Given the description of an element on the screen output the (x, y) to click on. 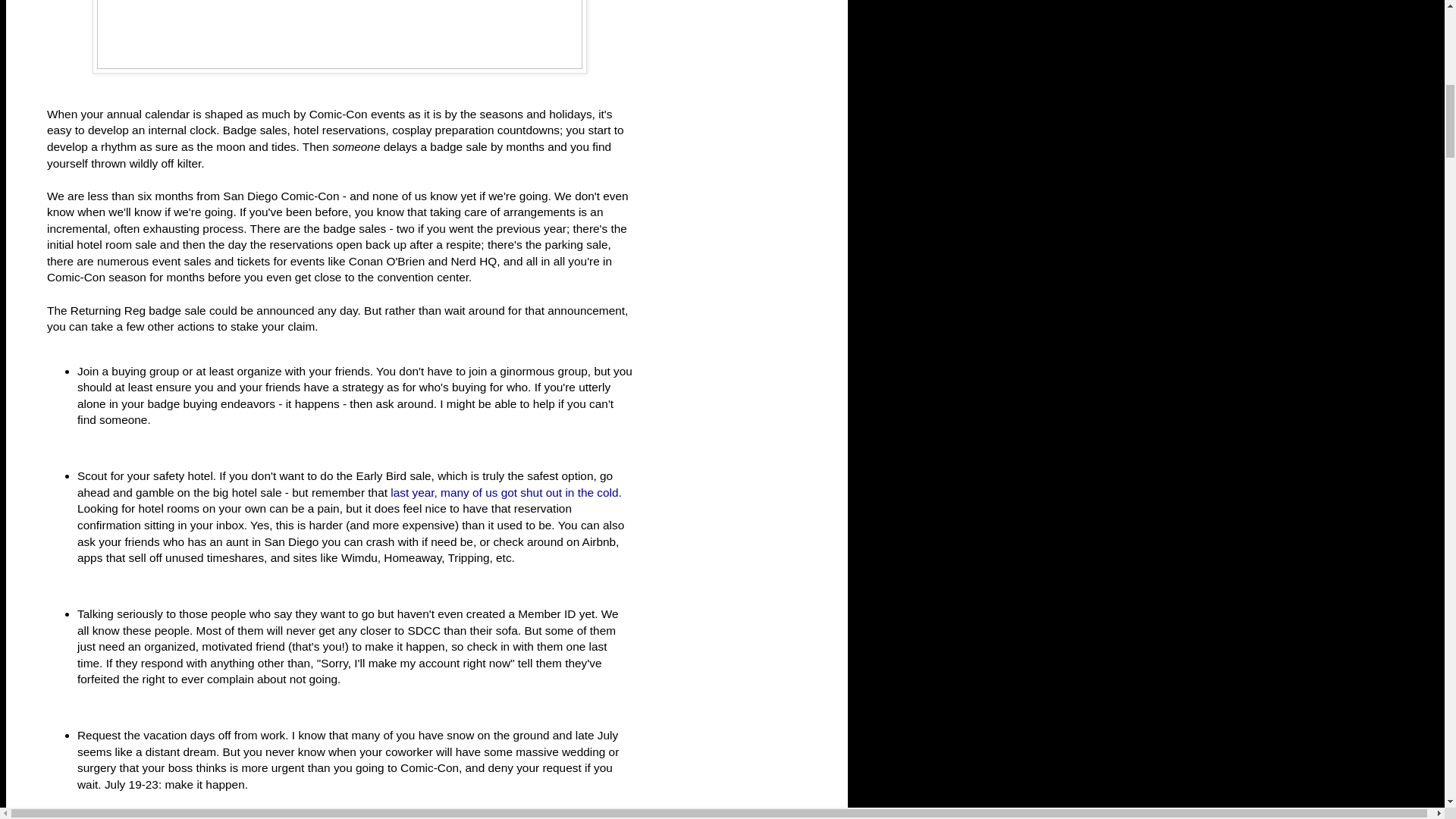
last year, many of us got shut out in the cold. (505, 492)
